Given the description of an element on the screen output the (x, y) to click on. 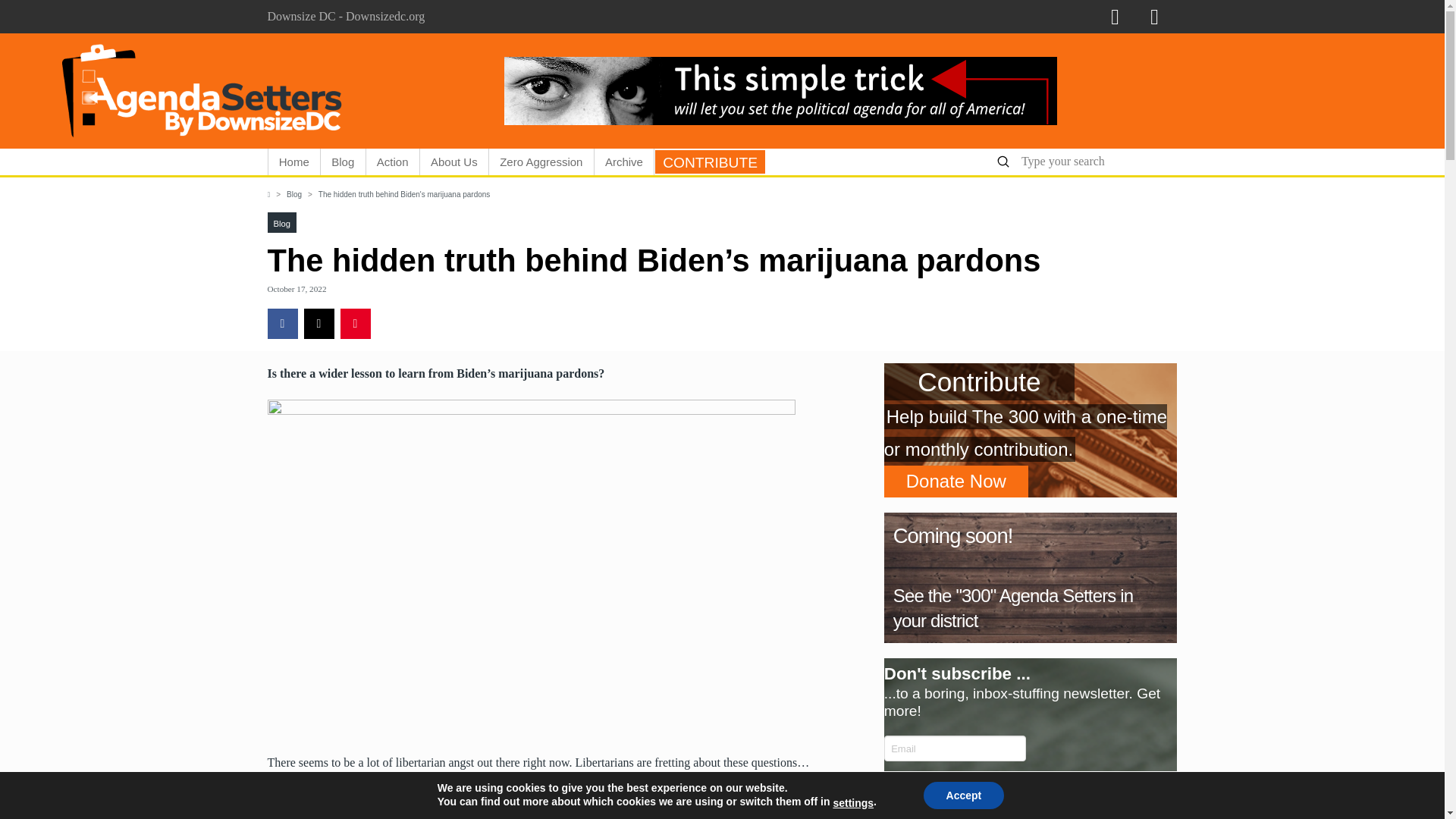
About Us (454, 161)
Blog (343, 161)
You Are Here (404, 194)
Zero Aggression (541, 161)
Blog (293, 194)
Action (393, 161)
Submit (1003, 161)
Archive (624, 161)
Blog (280, 222)
Home (294, 161)
The hidden truth behind Biden's marijuana pardons (404, 194)
Donate Now (955, 481)
